Given the description of an element on the screen output the (x, y) to click on. 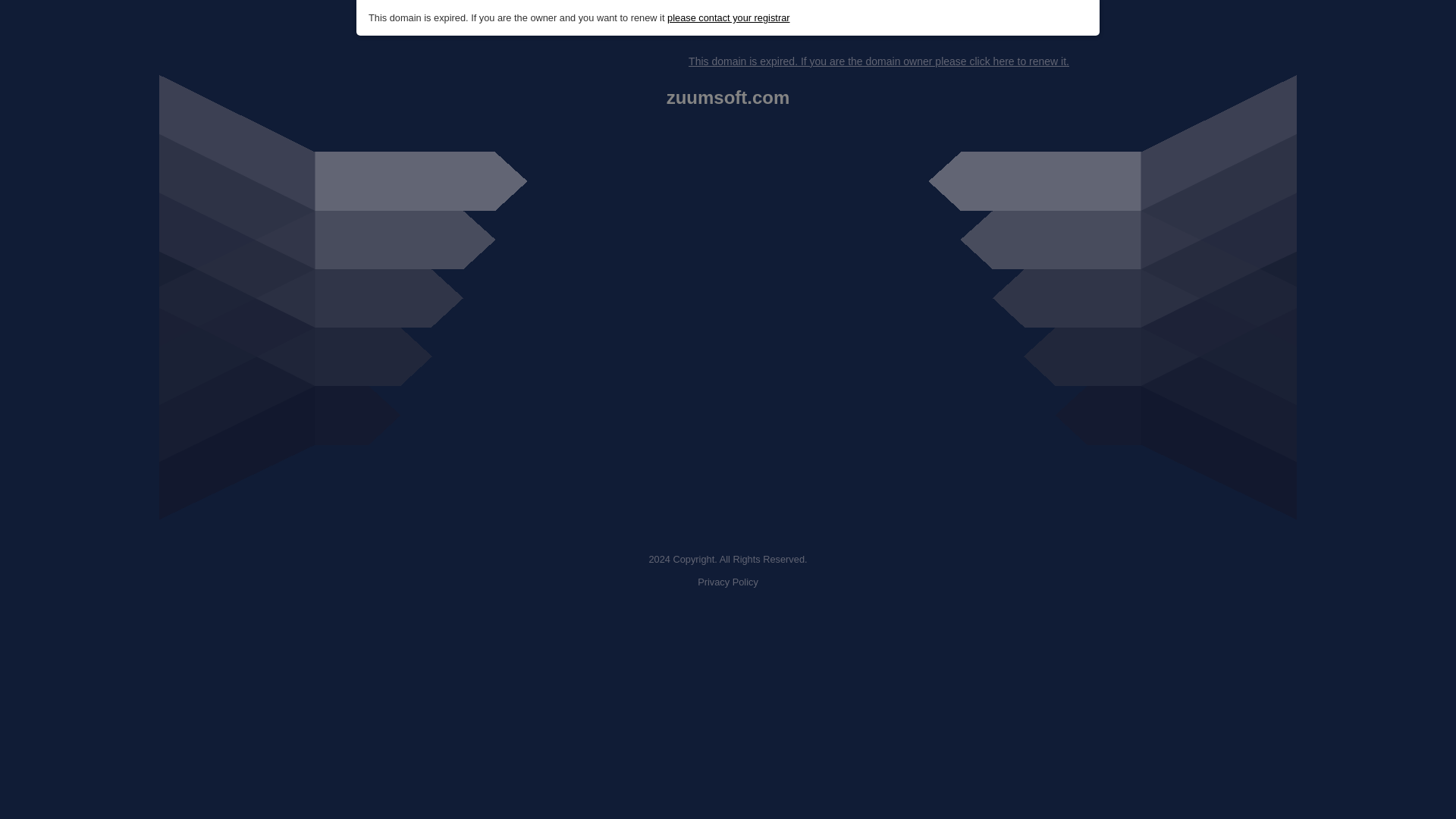
please contact your registrar (727, 17)
Privacy Policy (727, 582)
